Given the description of an element on the screen output the (x, y) to click on. 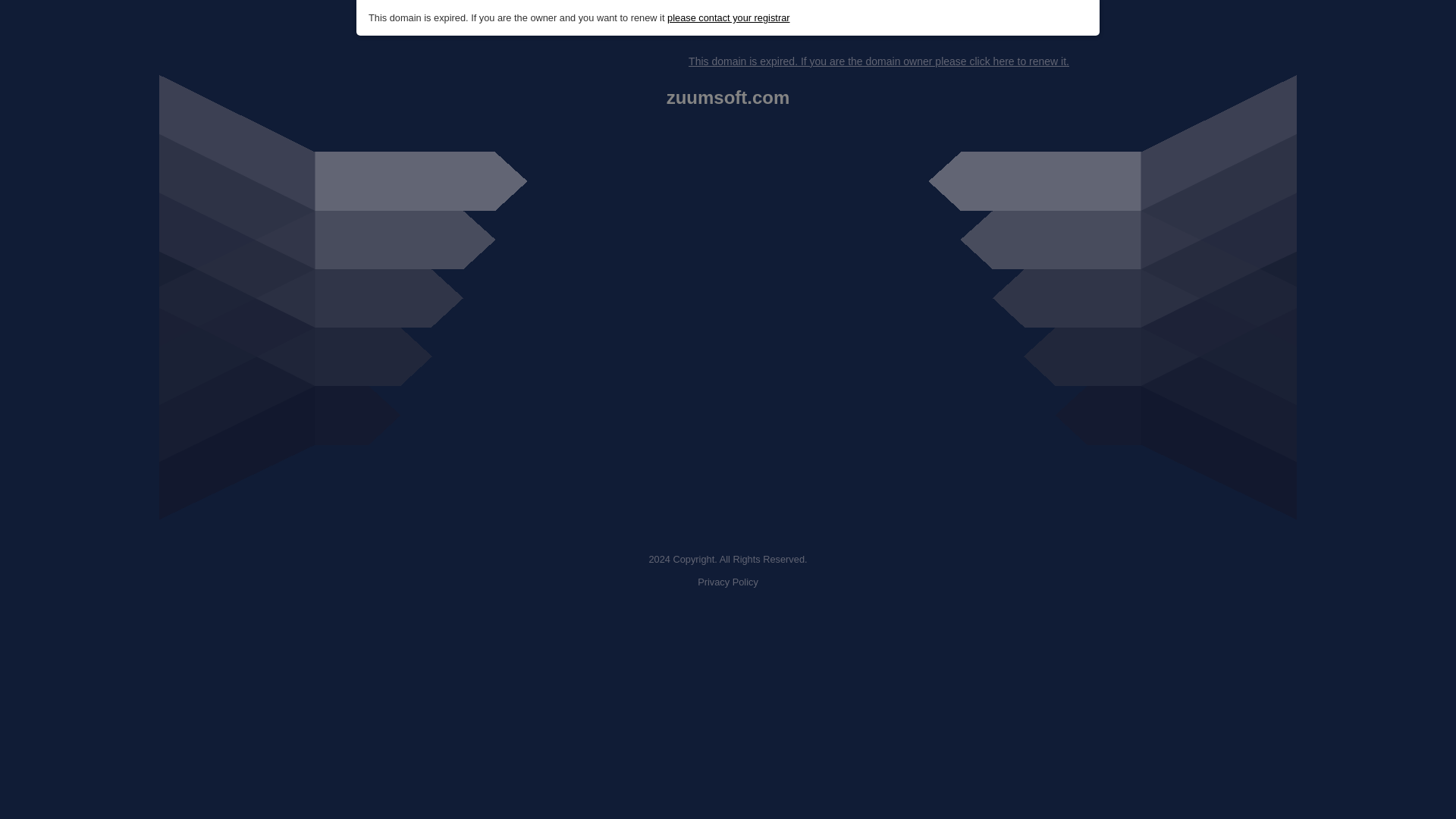
please contact your registrar (727, 17)
Privacy Policy (727, 582)
